Given the description of an element on the screen output the (x, y) to click on. 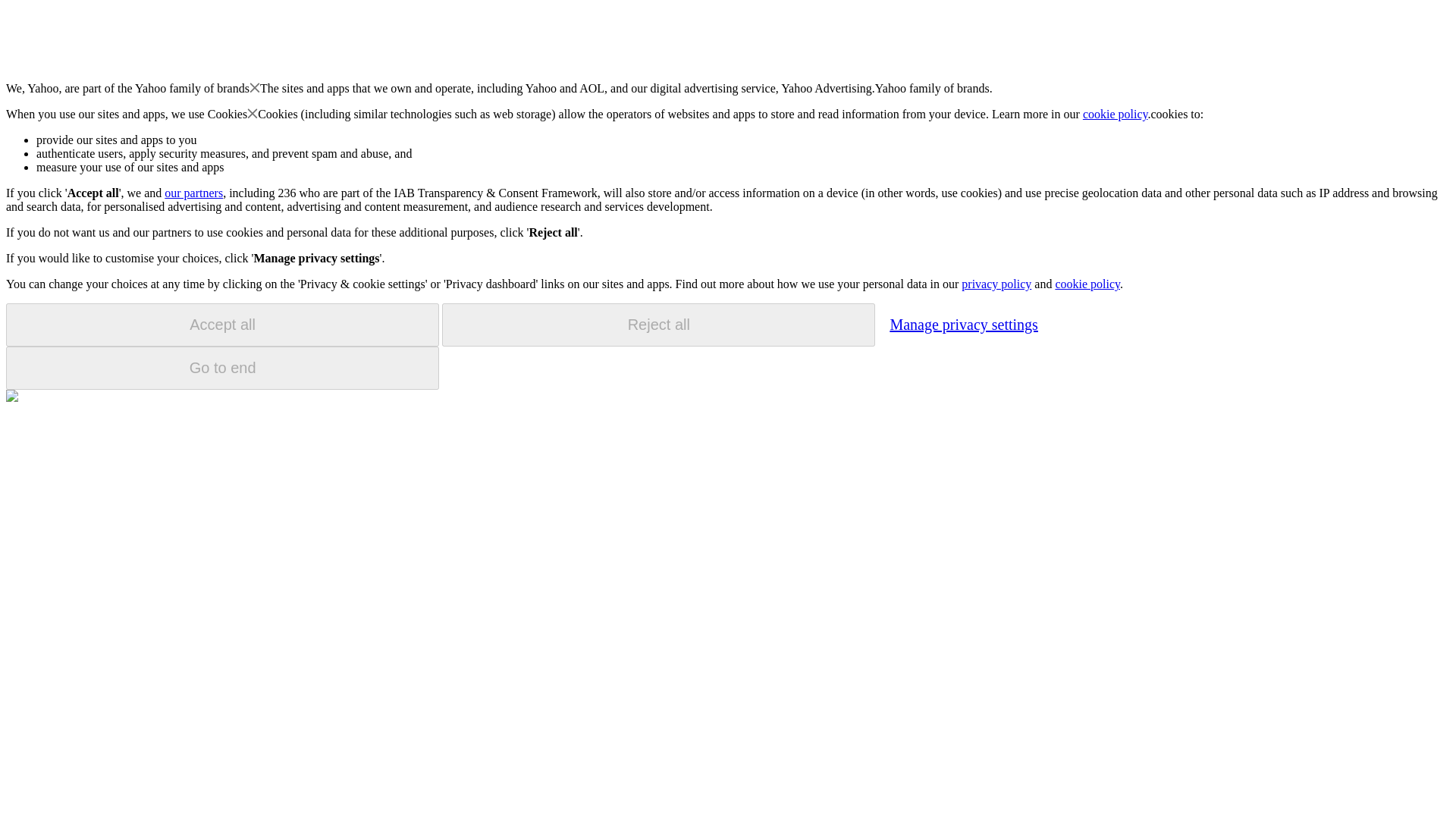
cookie policy (1086, 283)
cookie policy (1115, 113)
Manage privacy settings (963, 323)
Accept all (222, 324)
Reject all (658, 324)
Go to end (222, 367)
privacy policy (995, 283)
our partners (193, 192)
